Given the description of an element on the screen output the (x, y) to click on. 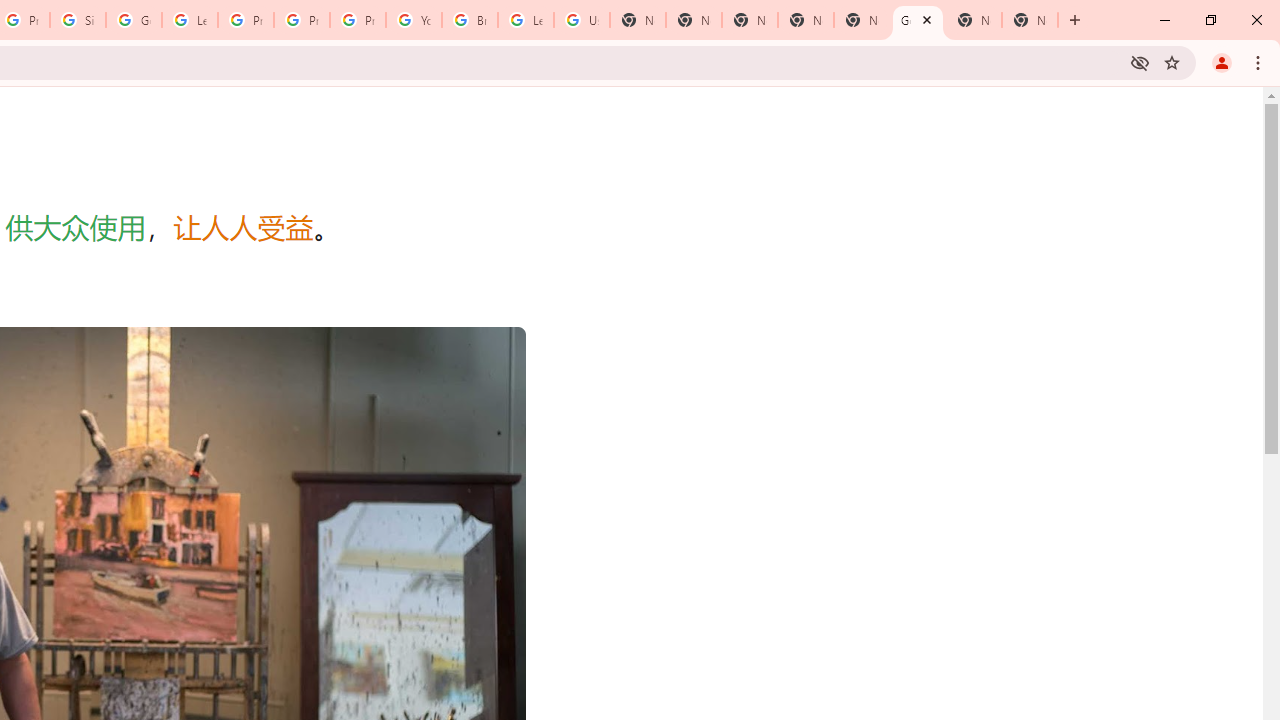
Close (926, 19)
Privacy Help Center - Policies Help (245, 20)
Chrome (1260, 62)
Privacy Help Center - Policies Help (301, 20)
Sign in - Google Accounts (77, 20)
